Given the description of an element on the screen output the (x, y) to click on. 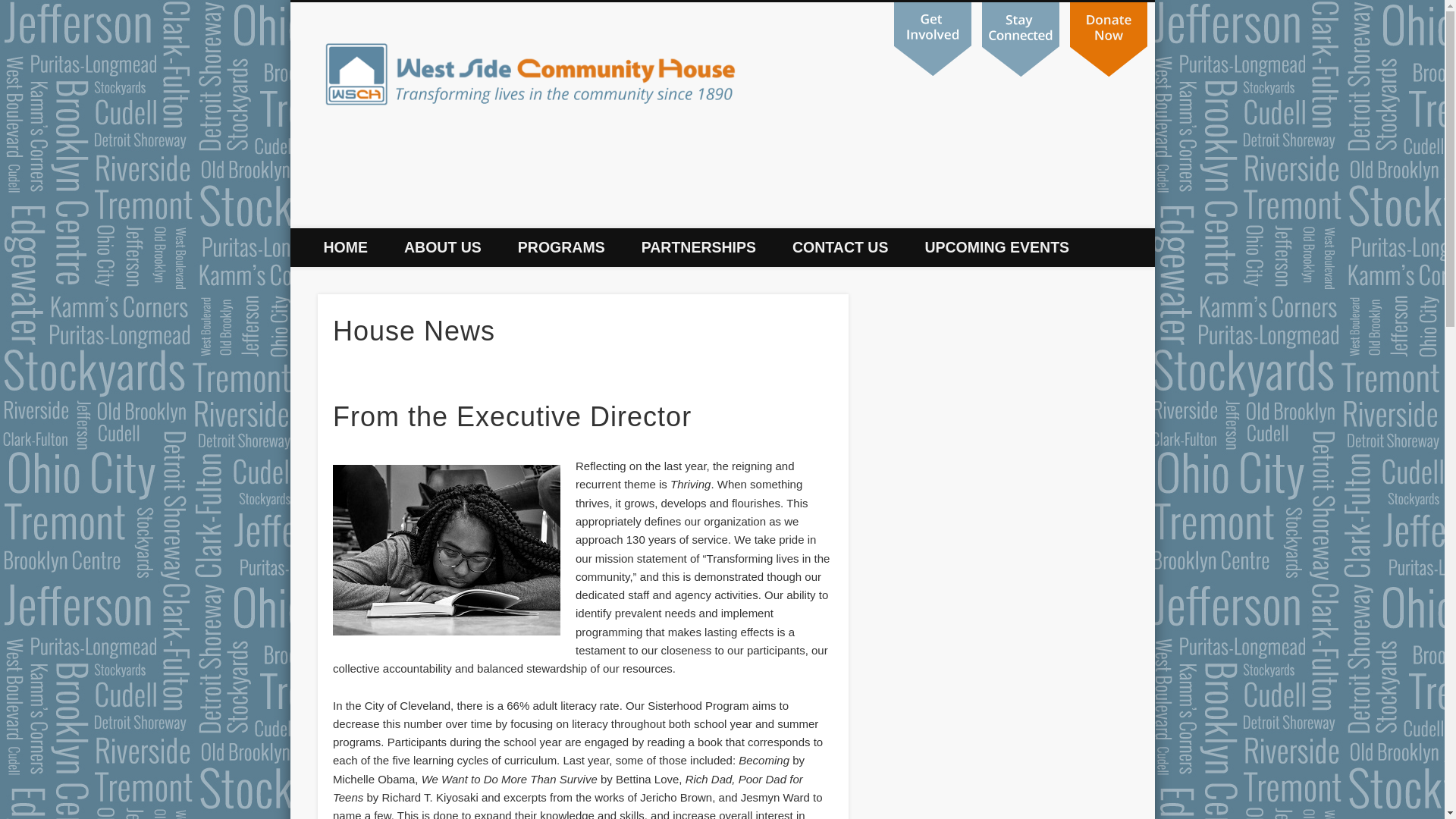
CONTACT US (839, 247)
PROGRAMS (561, 247)
UPCOMING EVENTS (996, 247)
West Side Community House (903, 59)
PARTNERSHIPS (698, 247)
ABOUT US (442, 247)
HOME (344, 247)
